Given the description of an element on the screen output the (x, y) to click on. 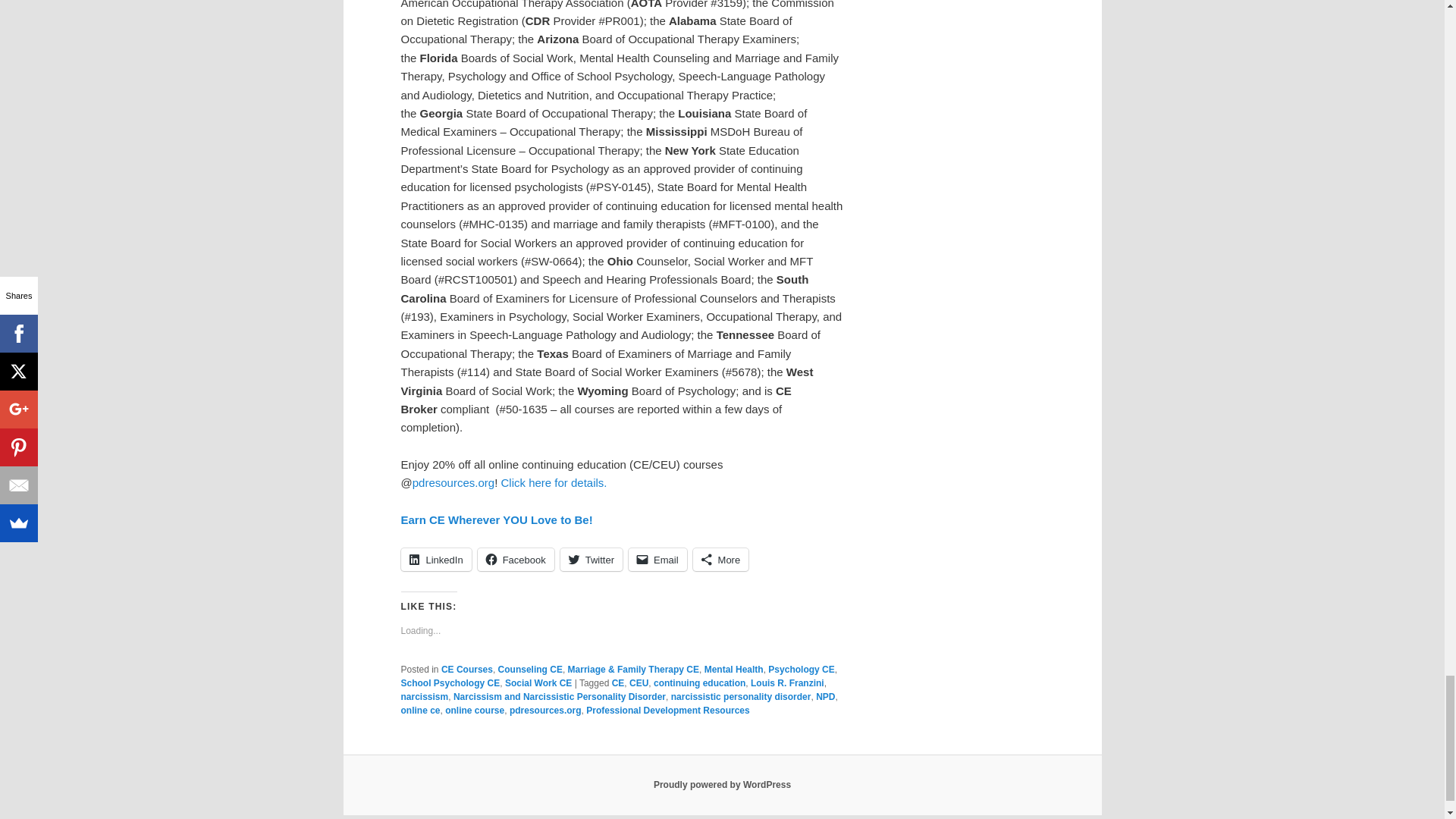
Click to share on Facebook (515, 558)
Click to share on Twitter (591, 558)
Click to share on LinkedIn (435, 558)
